Given the description of an element on the screen output the (x, y) to click on. 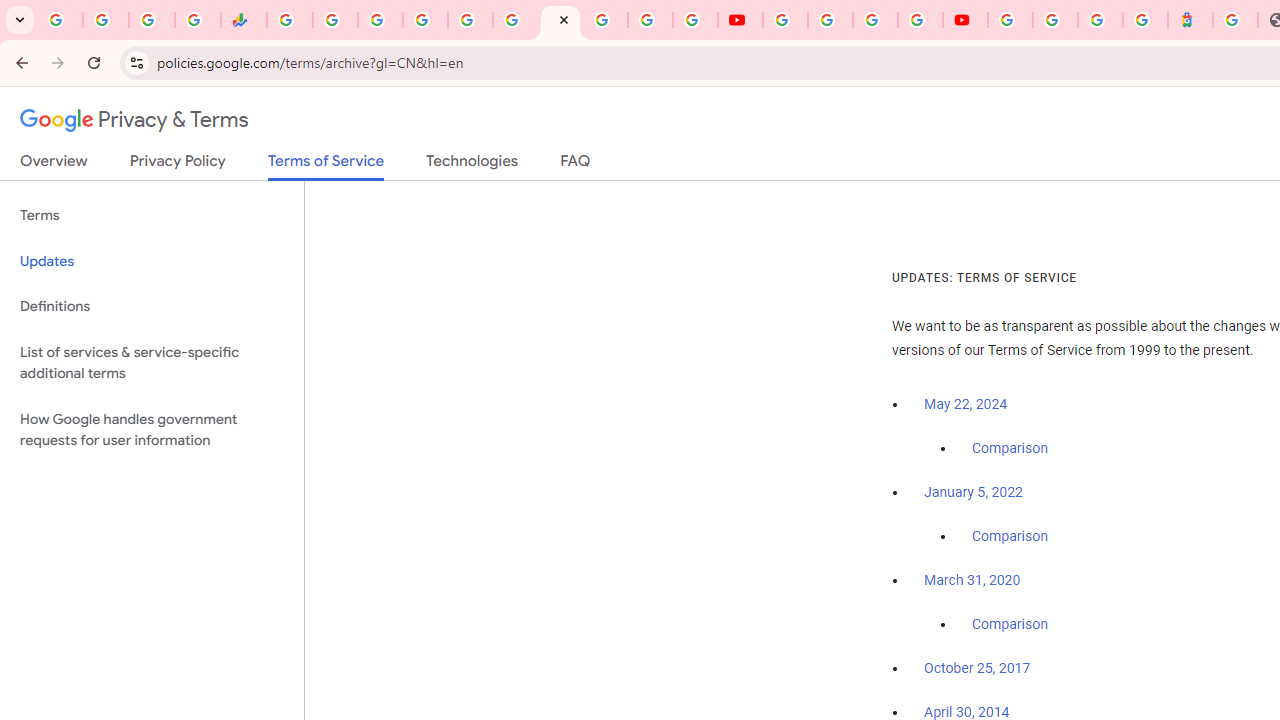
Create your Google Account (875, 20)
Terms of Service (326, 166)
Sign in - Google Accounts (1055, 20)
October 25, 2017 (977, 669)
FAQ (575, 165)
Sign in - Google Accounts (425, 20)
